Given the description of an element on the screen output the (x, y) to click on. 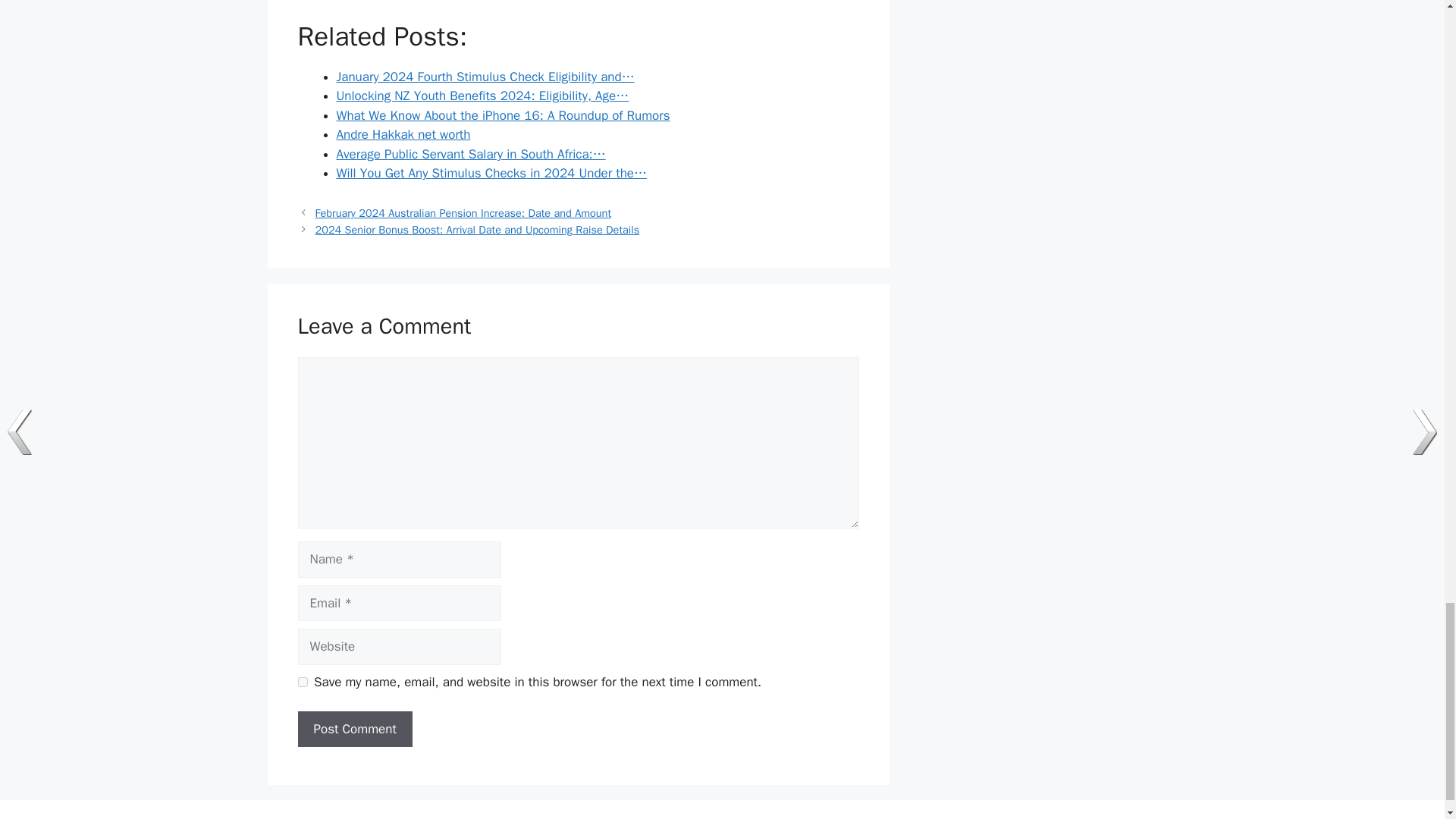
Andre Hakkak net worth (403, 134)
What We Know About the iPhone 16: A Roundup of Rumors (502, 115)
Post Comment (354, 729)
yes (302, 682)
Post Comment (354, 729)
February 2024 Australian Pension Increase: Date and Amount (463, 213)
